Given the description of an element on the screen output the (x, y) to click on. 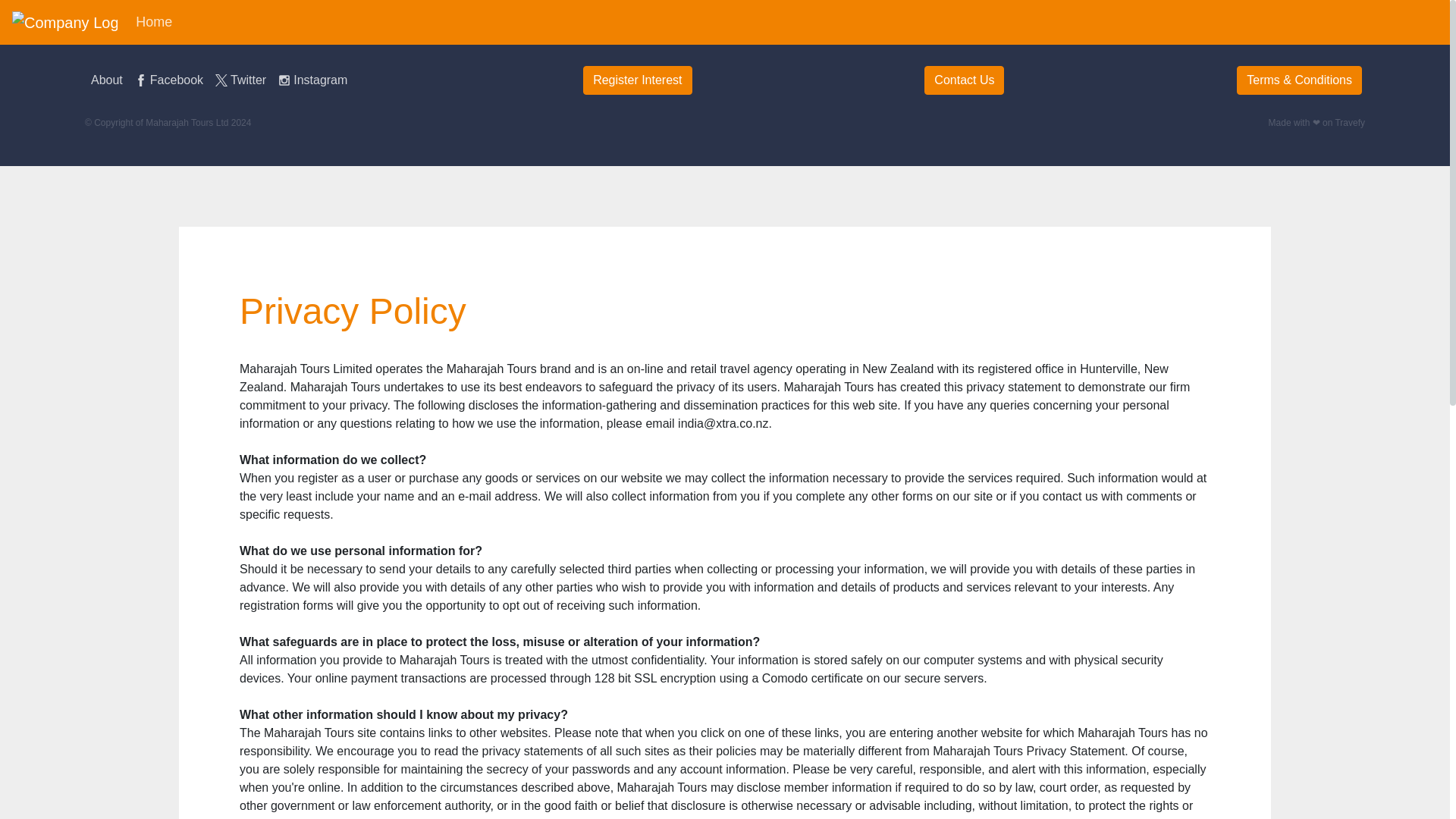
Home (153, 21)
About (106, 80)
Facebook (169, 80)
Register Interest (637, 80)
Twitter (240, 80)
Contact Us (964, 80)
Instagram (312, 80)
